Given the description of an element on the screen output the (x, y) to click on. 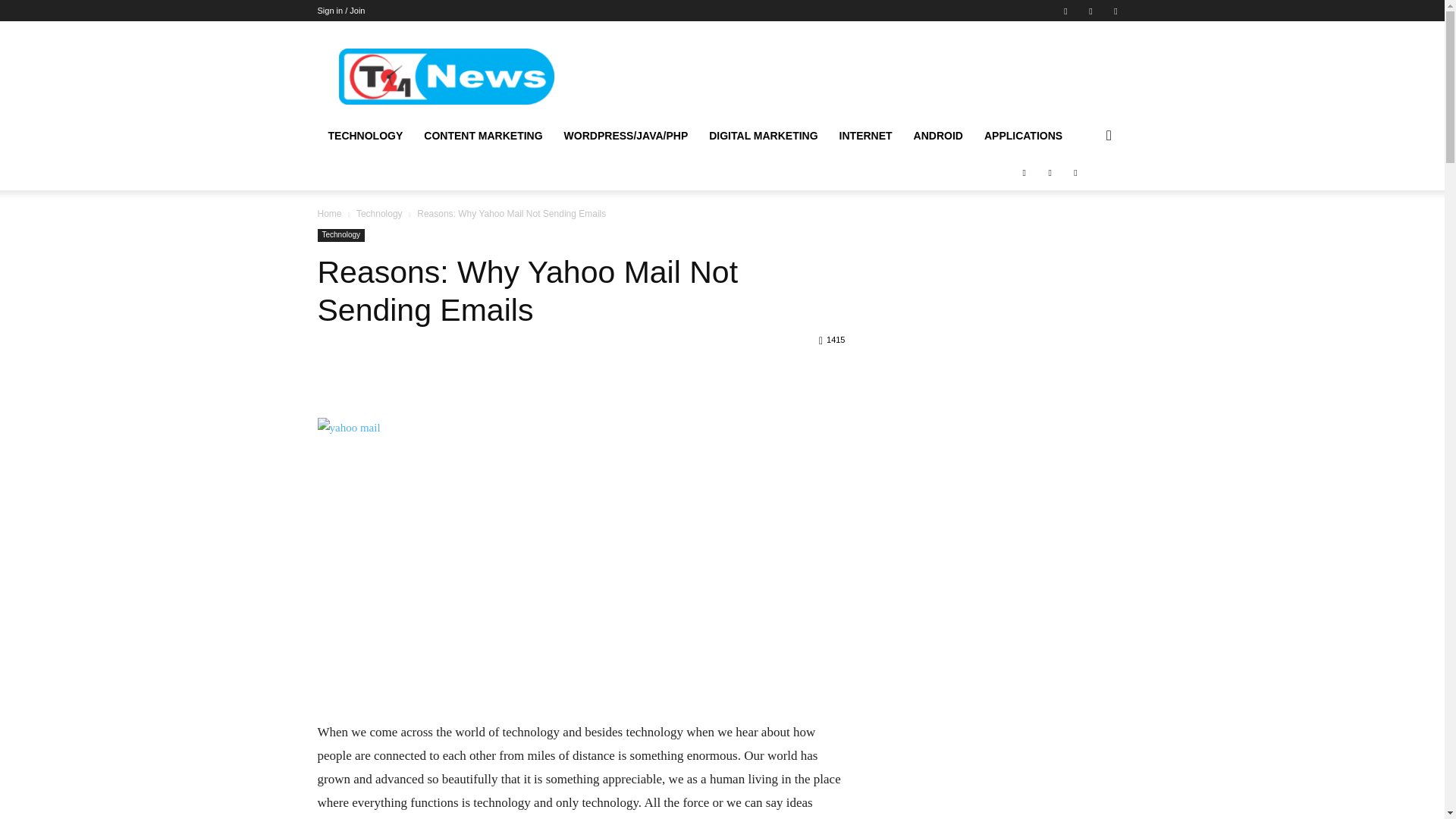
View all posts in Technology (379, 213)
APPLICATIONS (1023, 135)
DIGITAL MARKETING (763, 135)
CONTENT MARKETING (483, 135)
TECHNOLOGY (365, 135)
Twitter (1114, 10)
technologynews24x7.com (445, 76)
ANDROID (938, 135)
Facebook (1065, 10)
Pinterest (1090, 10)
Technology (341, 235)
INTERNET (865, 135)
Technology (379, 213)
Search (1085, 196)
Home (328, 213)
